Given the description of an element on the screen output the (x, y) to click on. 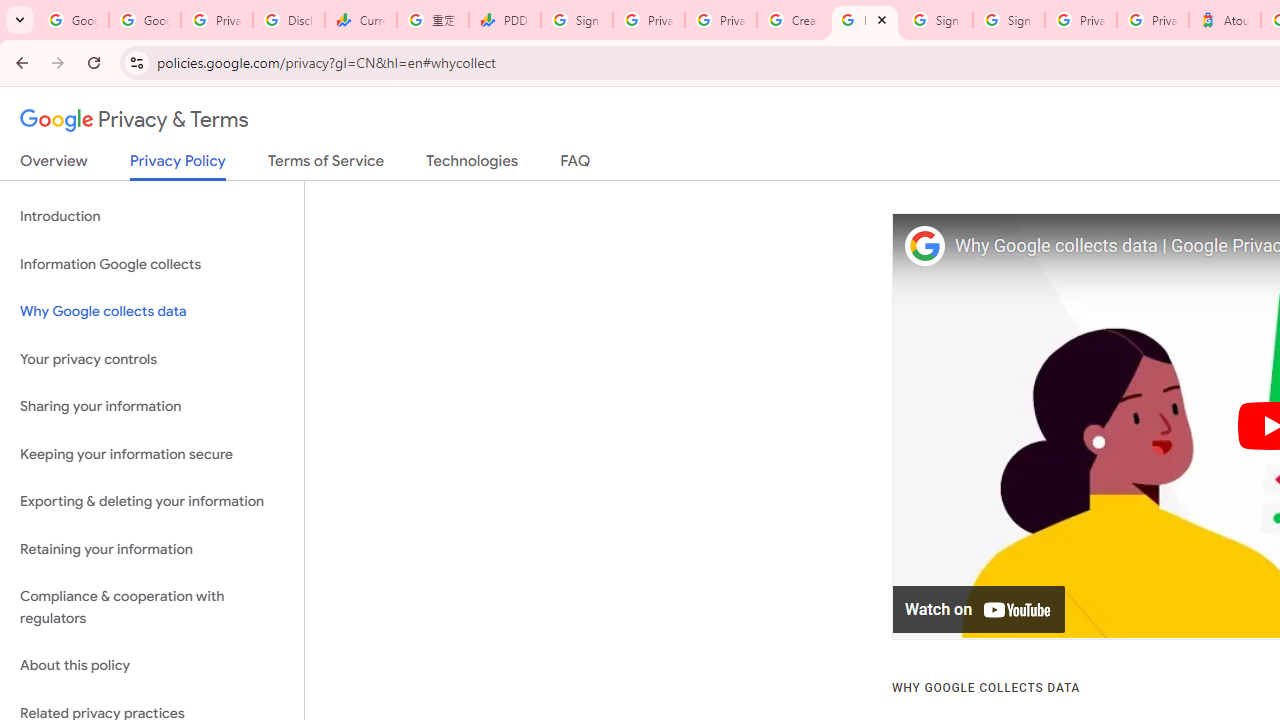
Sign in - Google Accounts (1008, 20)
Retaining your information (152, 548)
Sharing your information (152, 407)
Photo image of Google (924, 246)
Sign in - Google Accounts (577, 20)
